Given the description of an element on the screen output the (x, y) to click on. 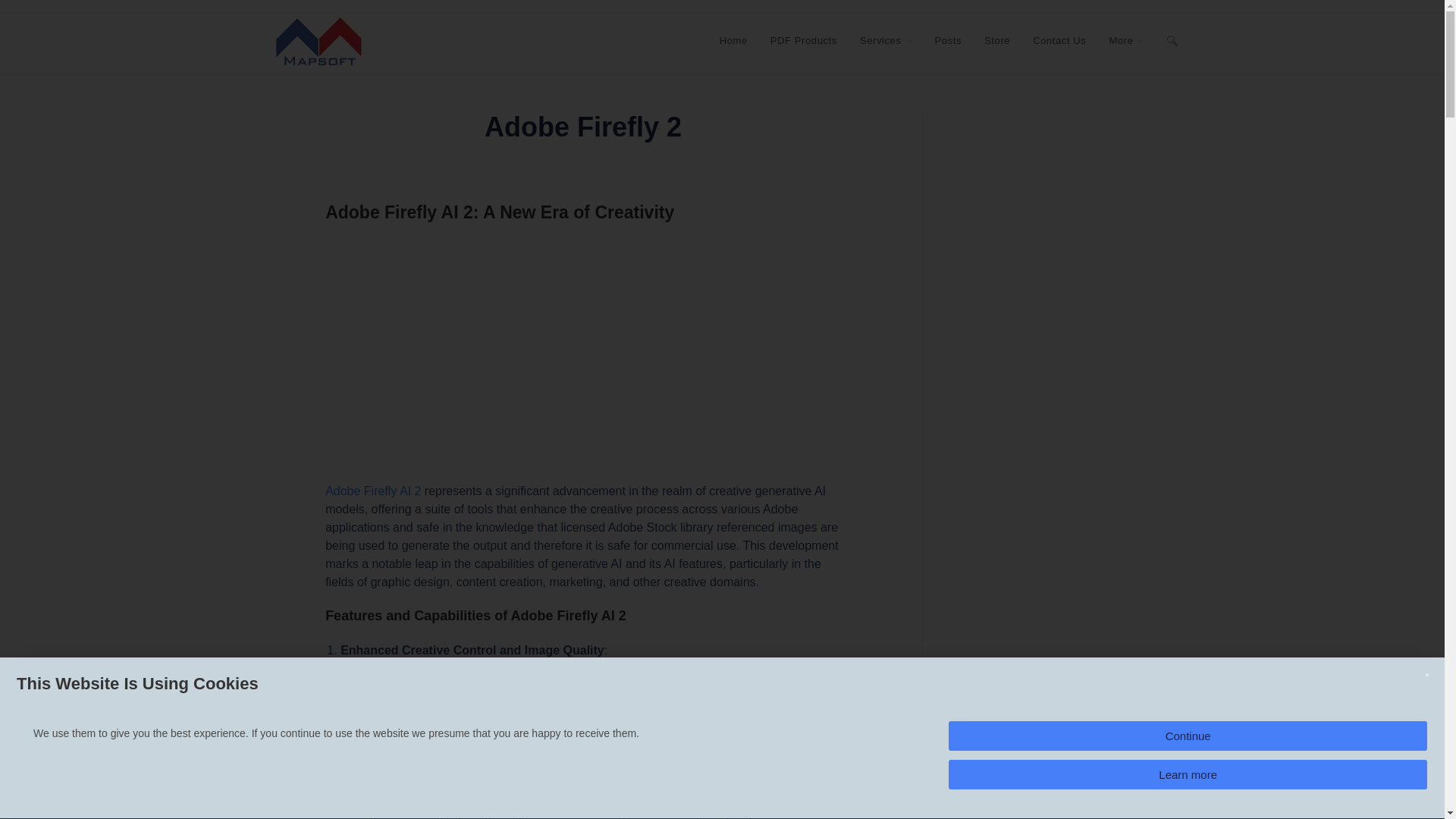
PDF Products (803, 40)
Contact Us (1059, 40)
More (1125, 40)
Posts (948, 40)
Adobe Firefly AI 2 (372, 490)
Home (732, 40)
Services (885, 40)
